Given the description of an element on the screen output the (x, y) to click on. 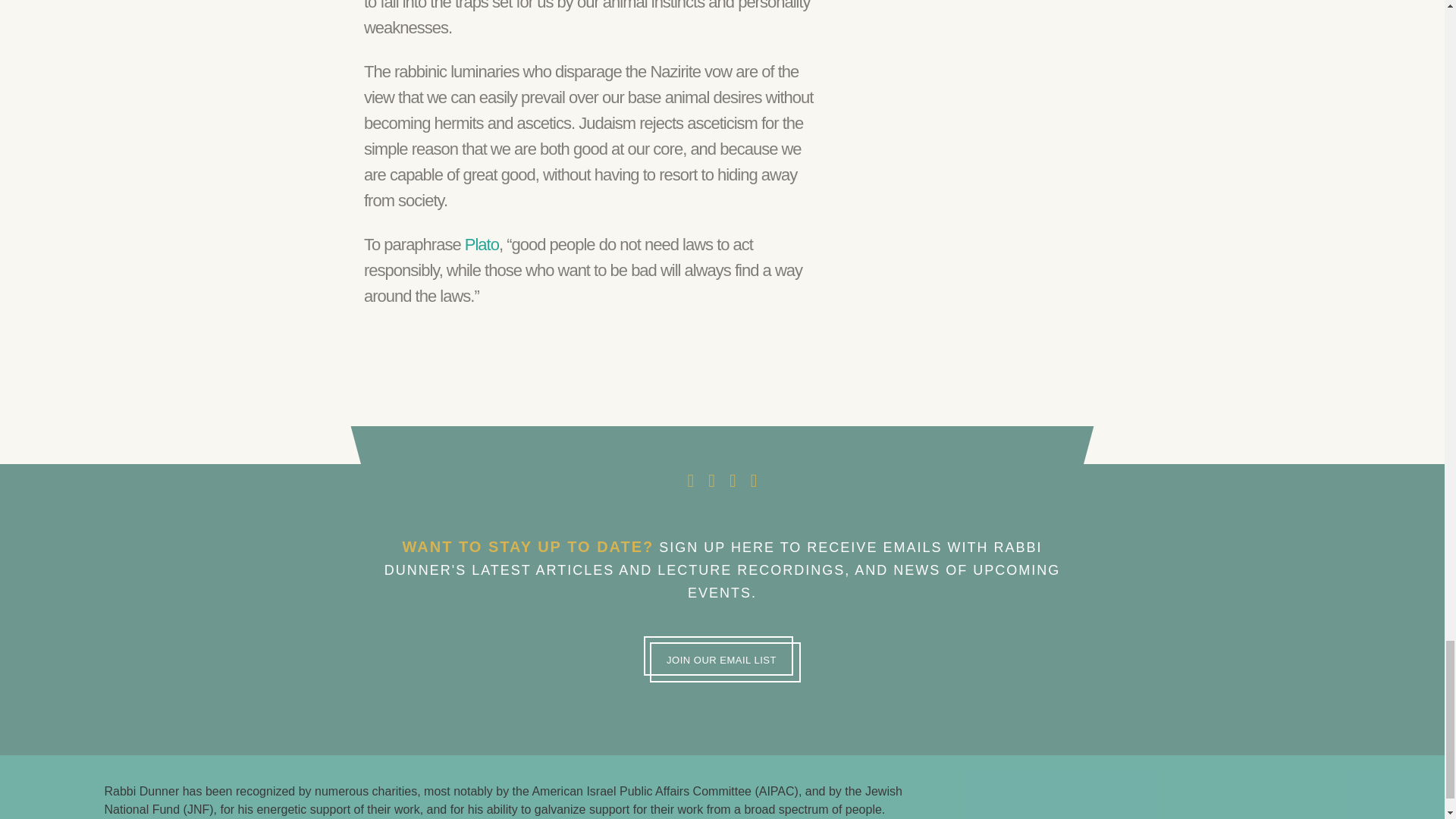
Plato (481, 244)
